Given the description of an element on the screen output the (x, y) to click on. 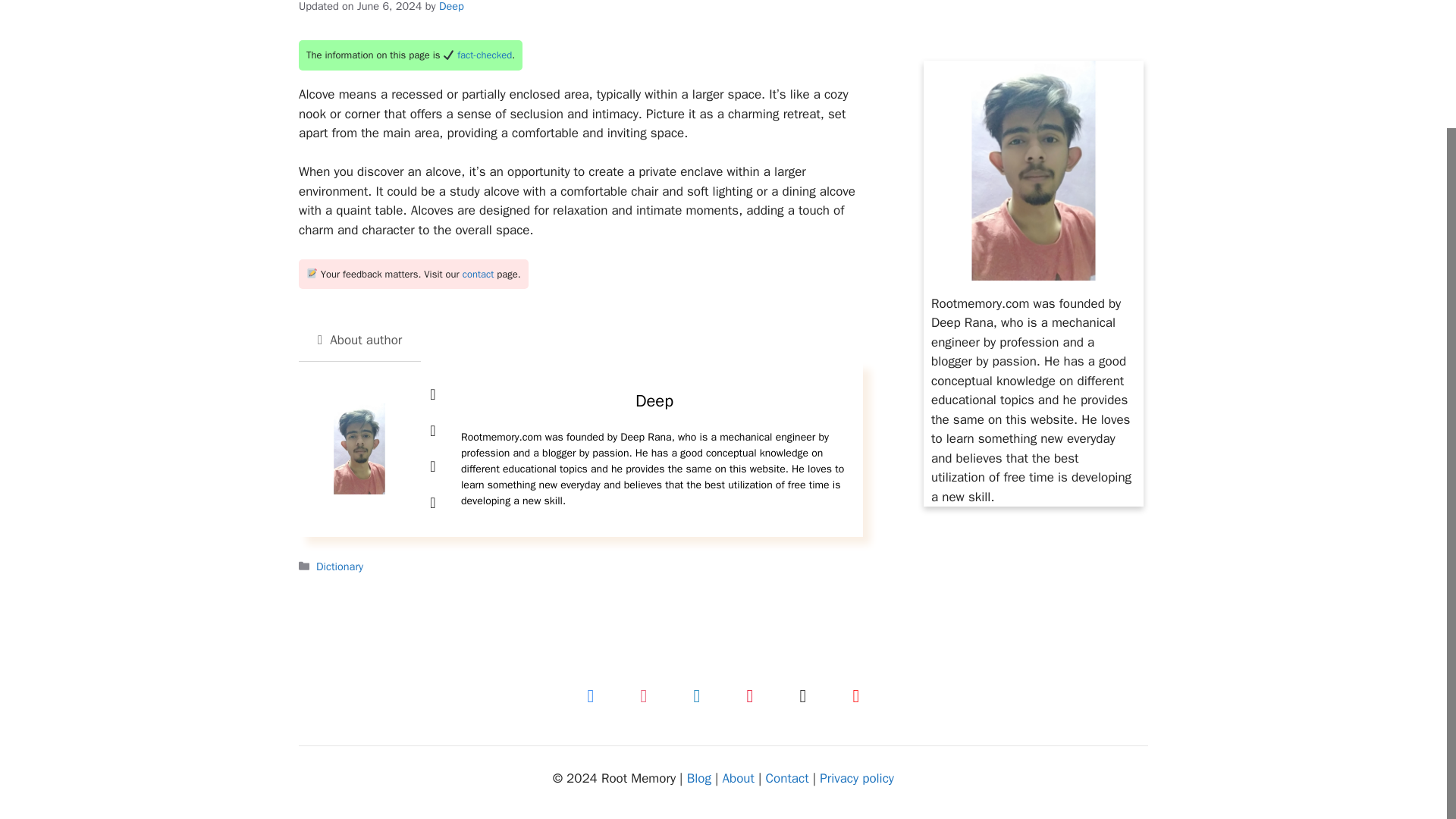
contact (479, 273)
Dictionary (338, 566)
Contact (787, 778)
About (738, 778)
Blog (699, 778)
fact-checked (484, 54)
View all posts by Deep (451, 6)
Deep (451, 6)
Privacy policy (856, 778)
